Given the description of an element on the screen output the (x, y) to click on. 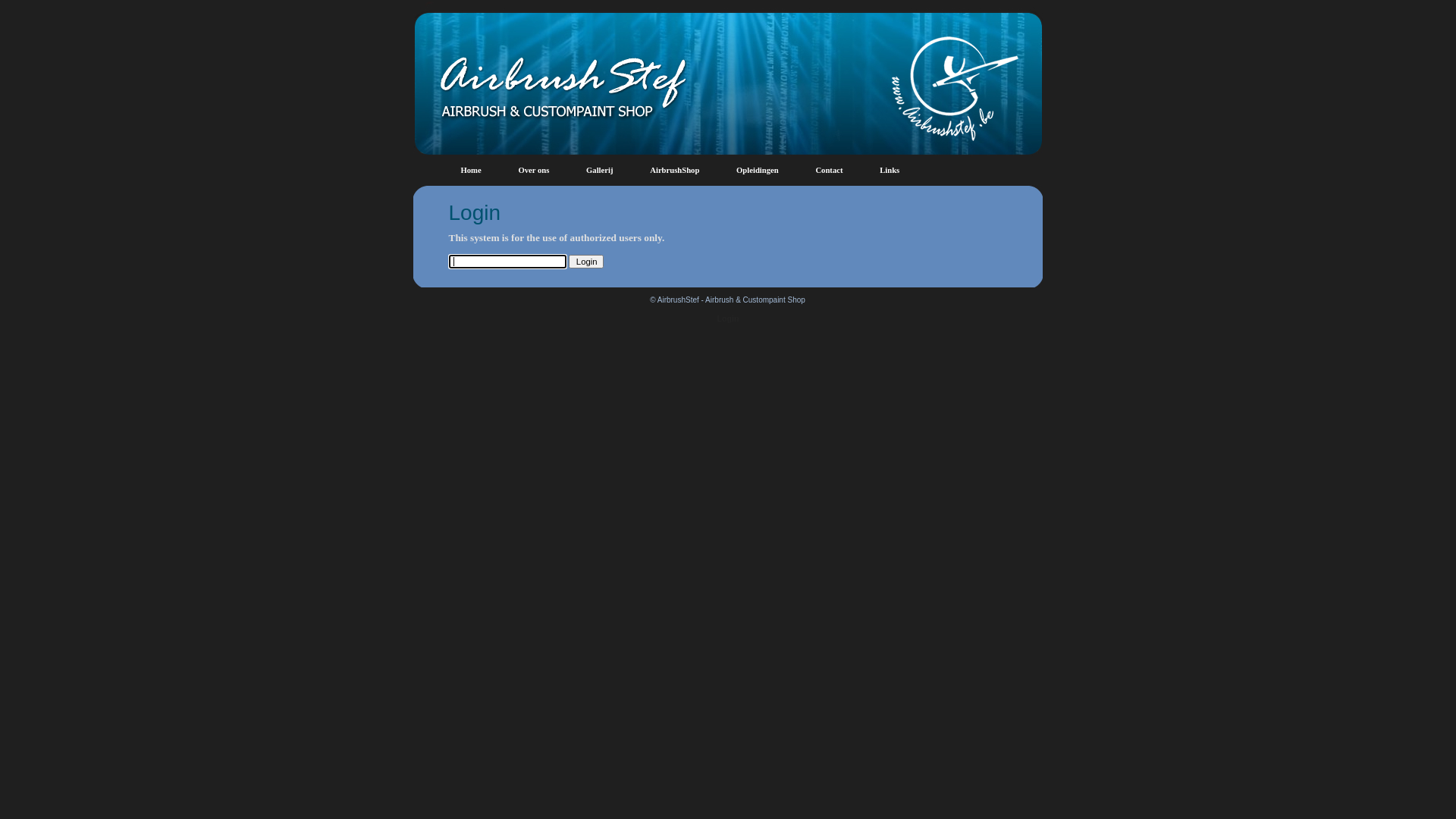
AirbrushShop Element type: text (674, 170)
Links Element type: text (889, 170)
Login Element type: text (728, 318)
Login Element type: text (585, 261)
Over ons Element type: text (533, 170)
Home Element type: text (471, 170)
Contact Element type: text (828, 170)
Opleidingen Element type: text (757, 170)
Gallerij Element type: text (599, 170)
